Given the description of an element on the screen output the (x, y) to click on. 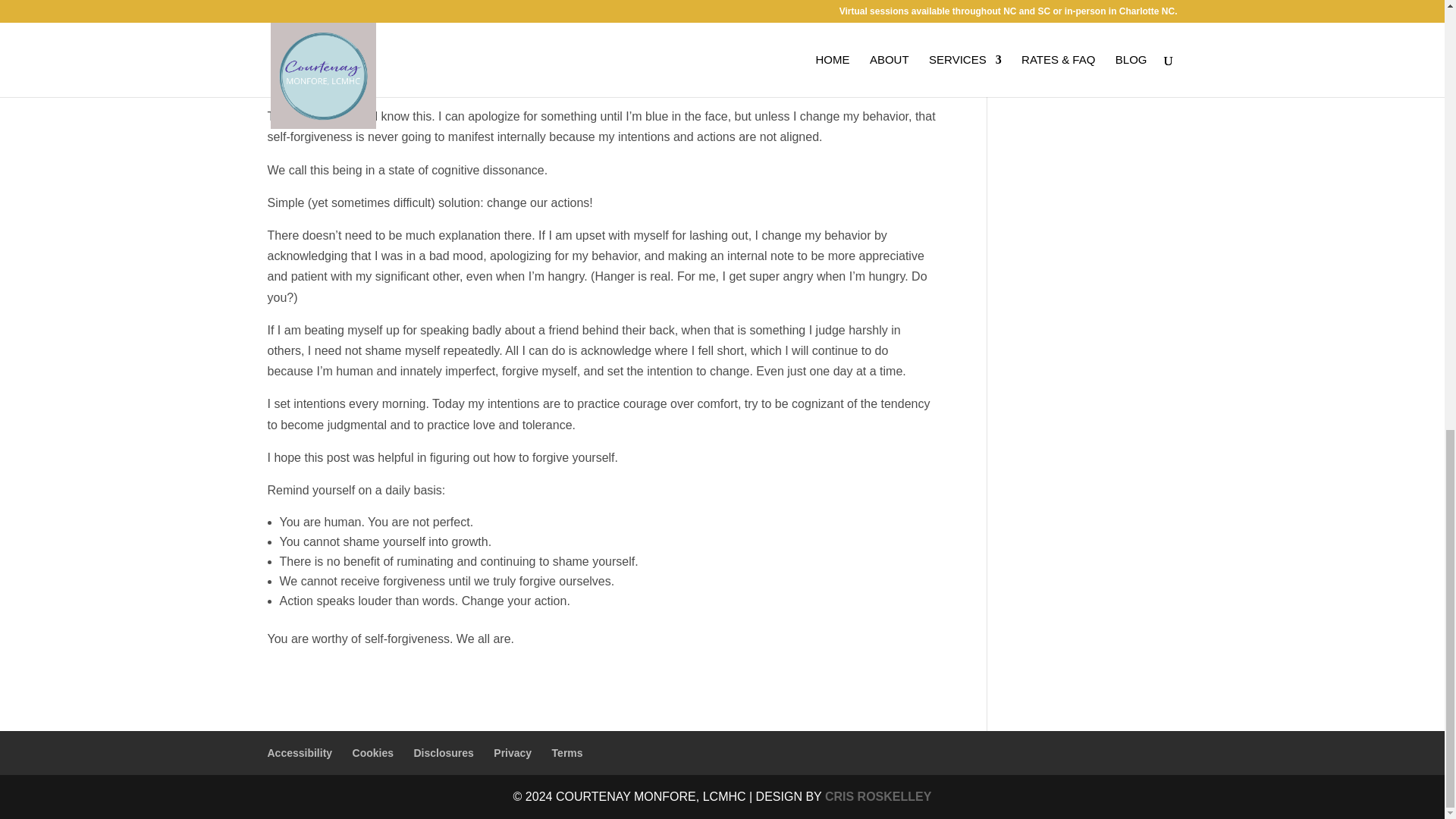
Cookies (372, 752)
Disclosures (443, 752)
CRIS ROSKELLEY (878, 796)
Privacy (512, 752)
Accessibility (298, 752)
Terms (567, 752)
